Given the description of an element on the screen output the (x, y) to click on. 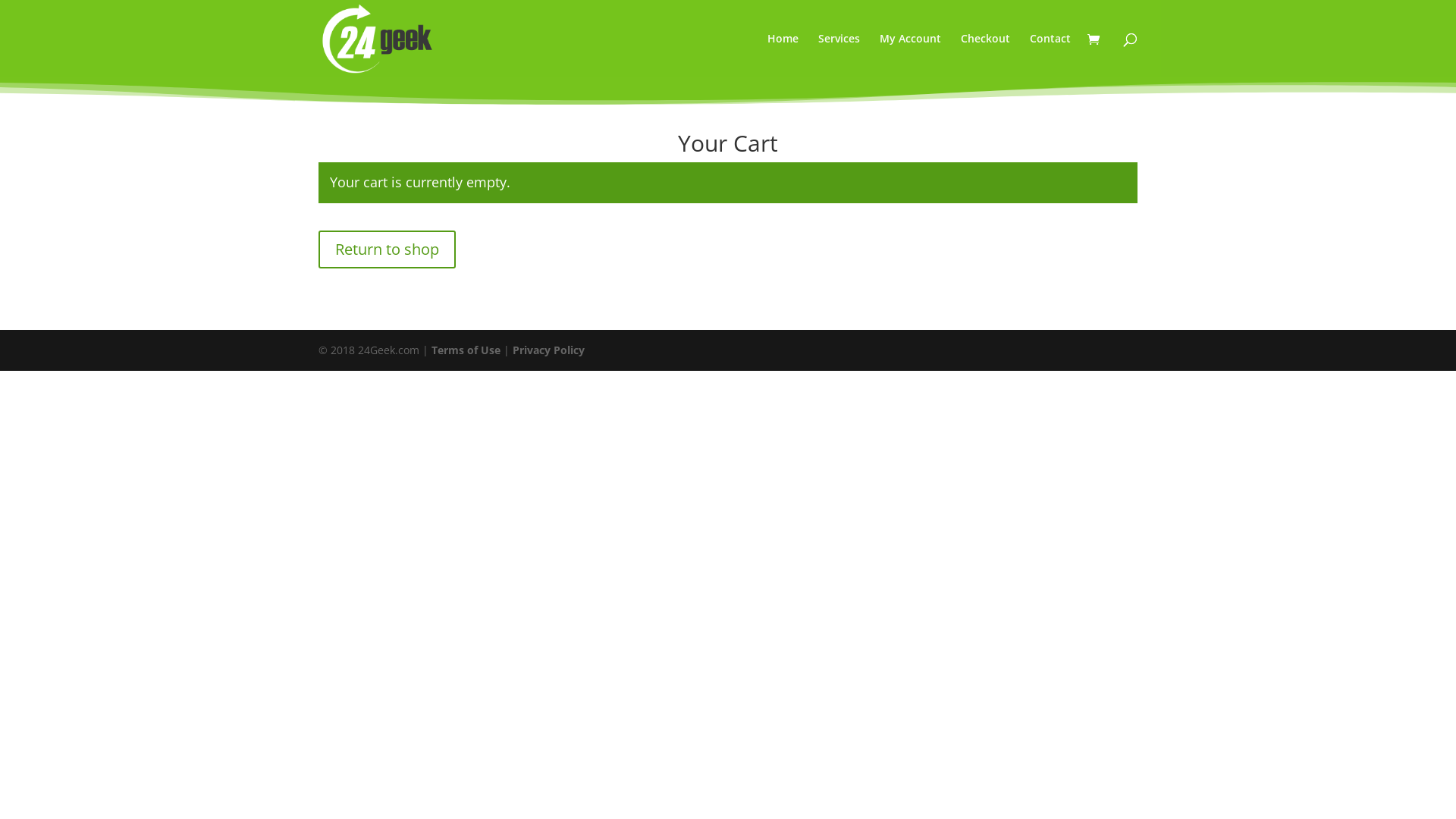
Privacy Policy Element type: text (548, 349)
Checkout Element type: text (985, 55)
Return to shop Element type: text (386, 249)
Services Element type: text (838, 55)
Home Element type: text (782, 55)
Terms of Use Element type: text (465, 349)
My Account Element type: text (910, 55)
Contact Element type: text (1049, 55)
